Given the description of an element on the screen output the (x, y) to click on. 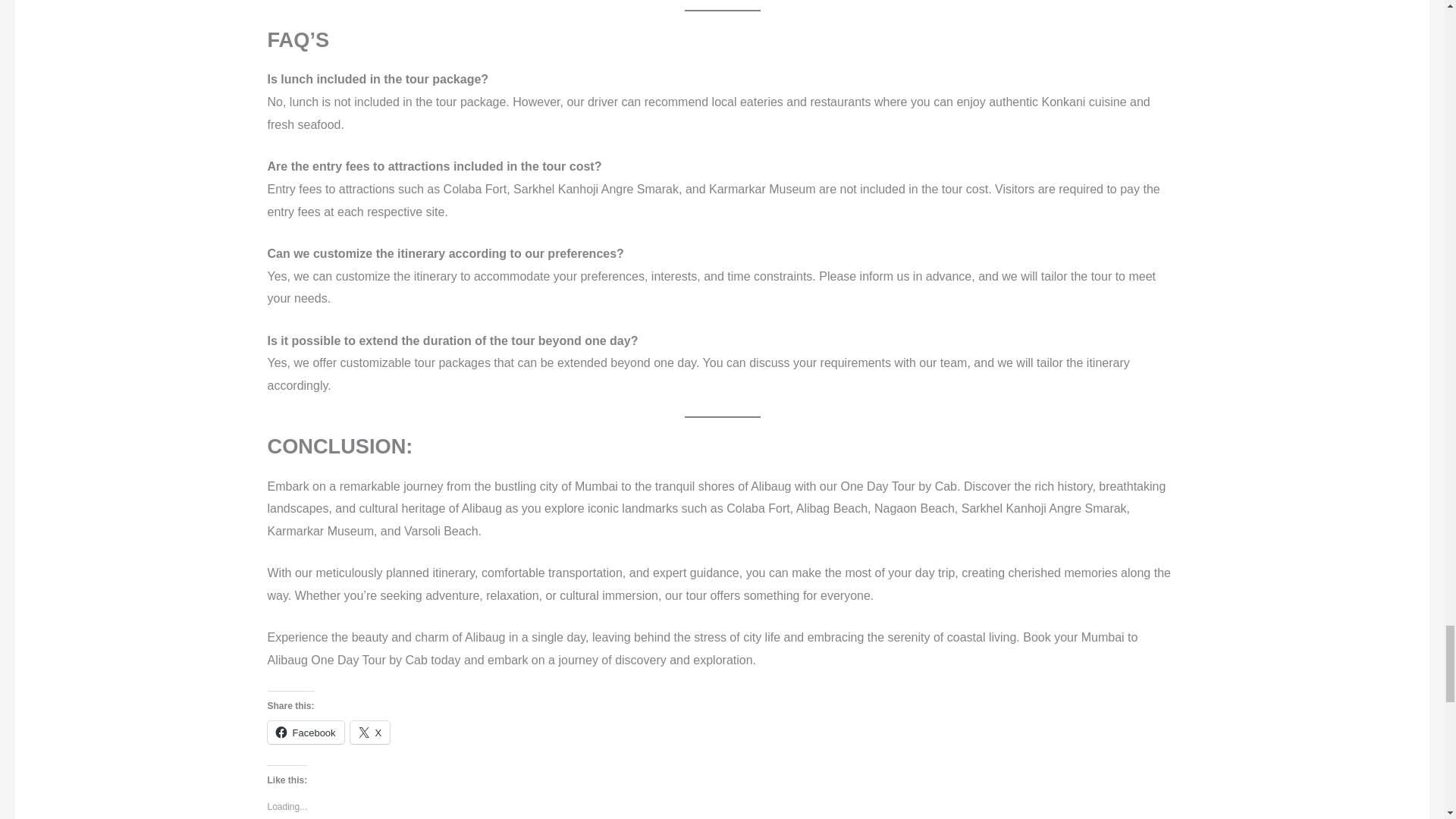
Click to share on Facebook (304, 732)
Facebook (304, 732)
Click to share on X (370, 732)
